Given the description of an element on the screen output the (x, y) to click on. 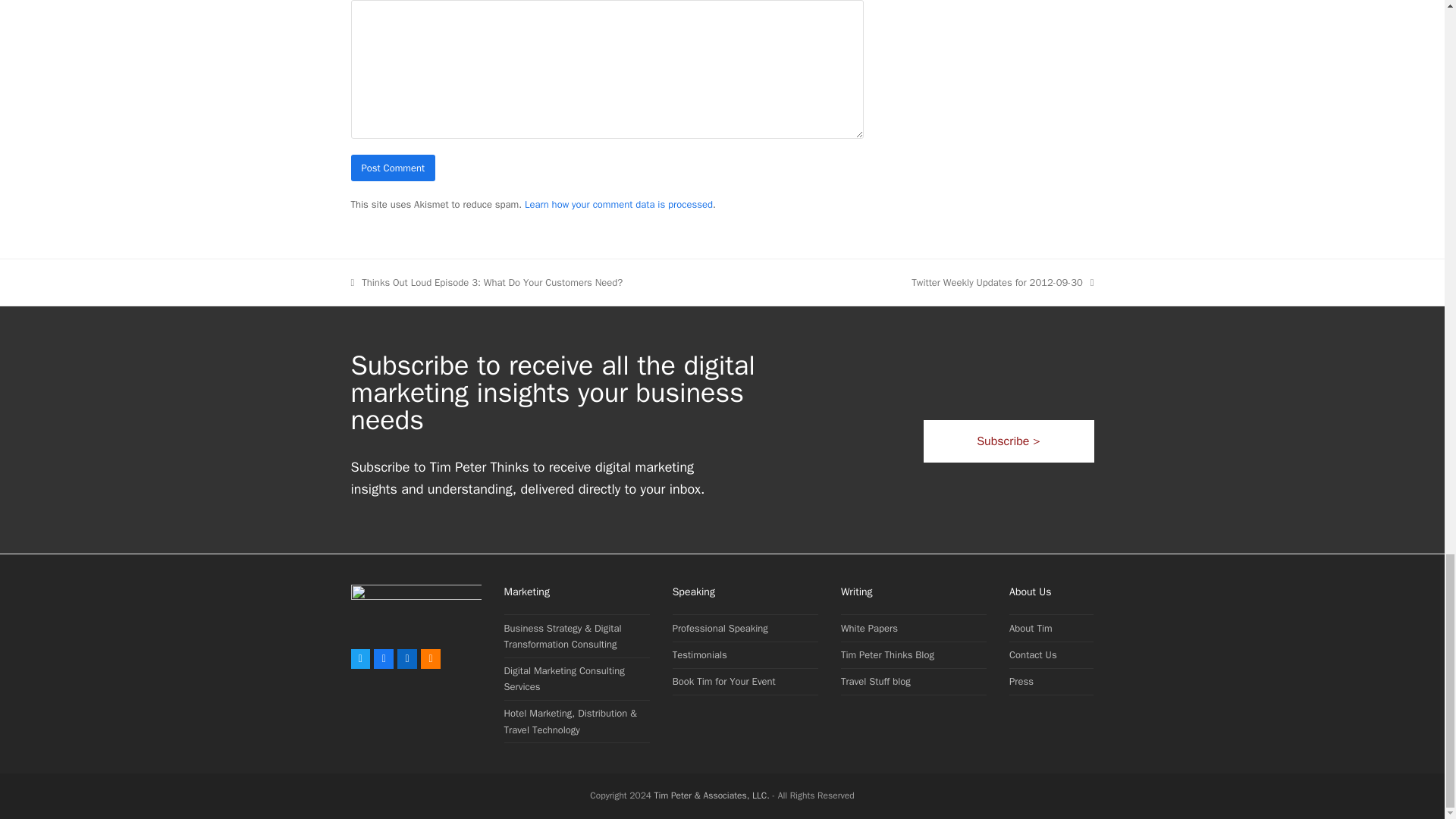
Facebook (383, 659)
RSS (430, 659)
Twitter (359, 659)
LinkedIn (406, 659)
Post Comment (392, 167)
